Given the description of an element on the screen output the (x, y) to click on. 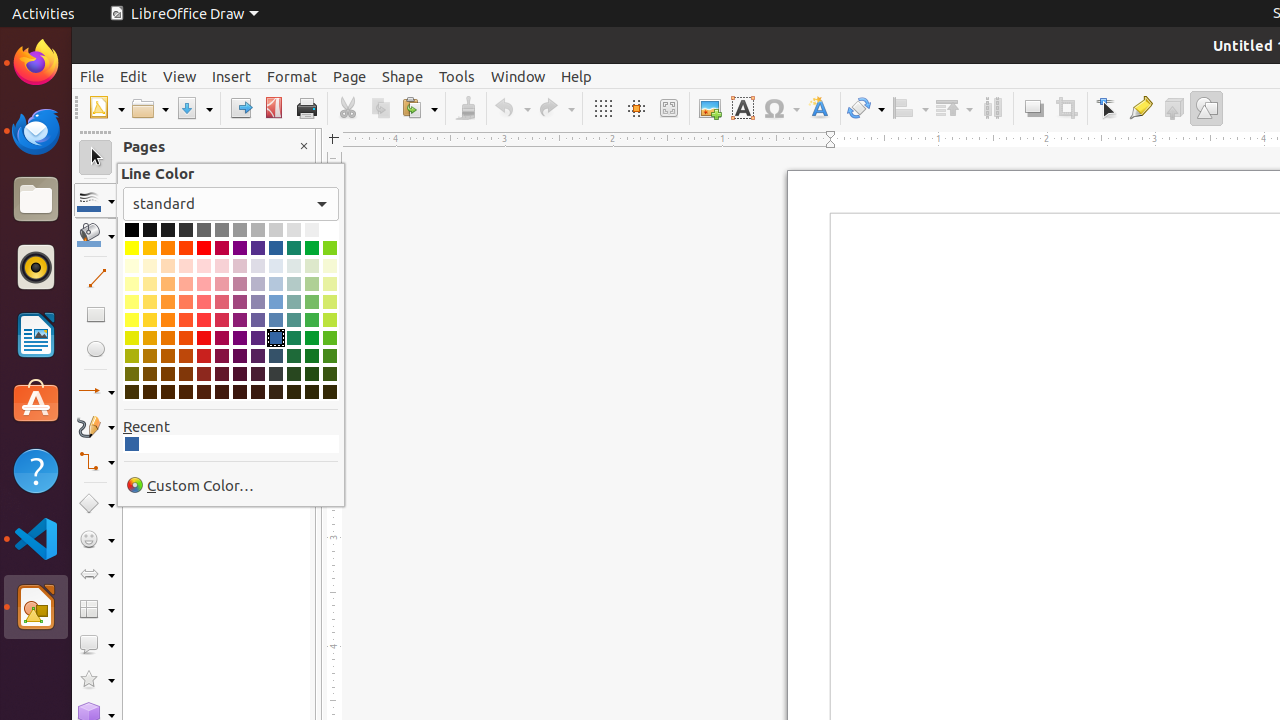
Curves and Polygons Element type: push-button (96, 426)
Rectangle Element type: push-button (95, 313)
Print Element type: push-button (306, 108)
Light Purple 2 Element type: list-item (240, 302)
Lines and Arrows Element type: push-button (96, 391)
